Given the description of an element on the screen output the (x, y) to click on. 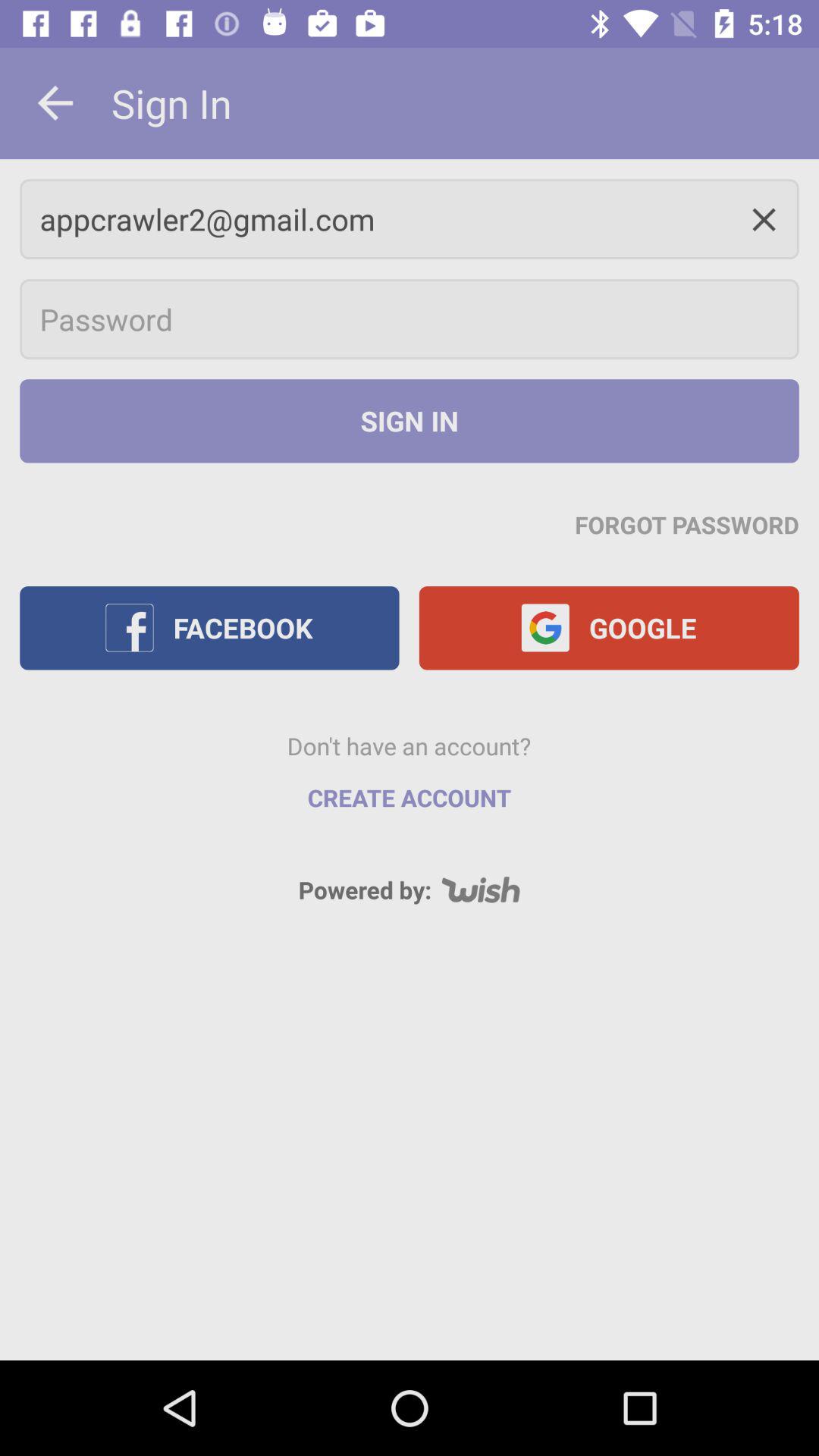
put the password (409, 319)
